Given the description of an element on the screen output the (x, y) to click on. 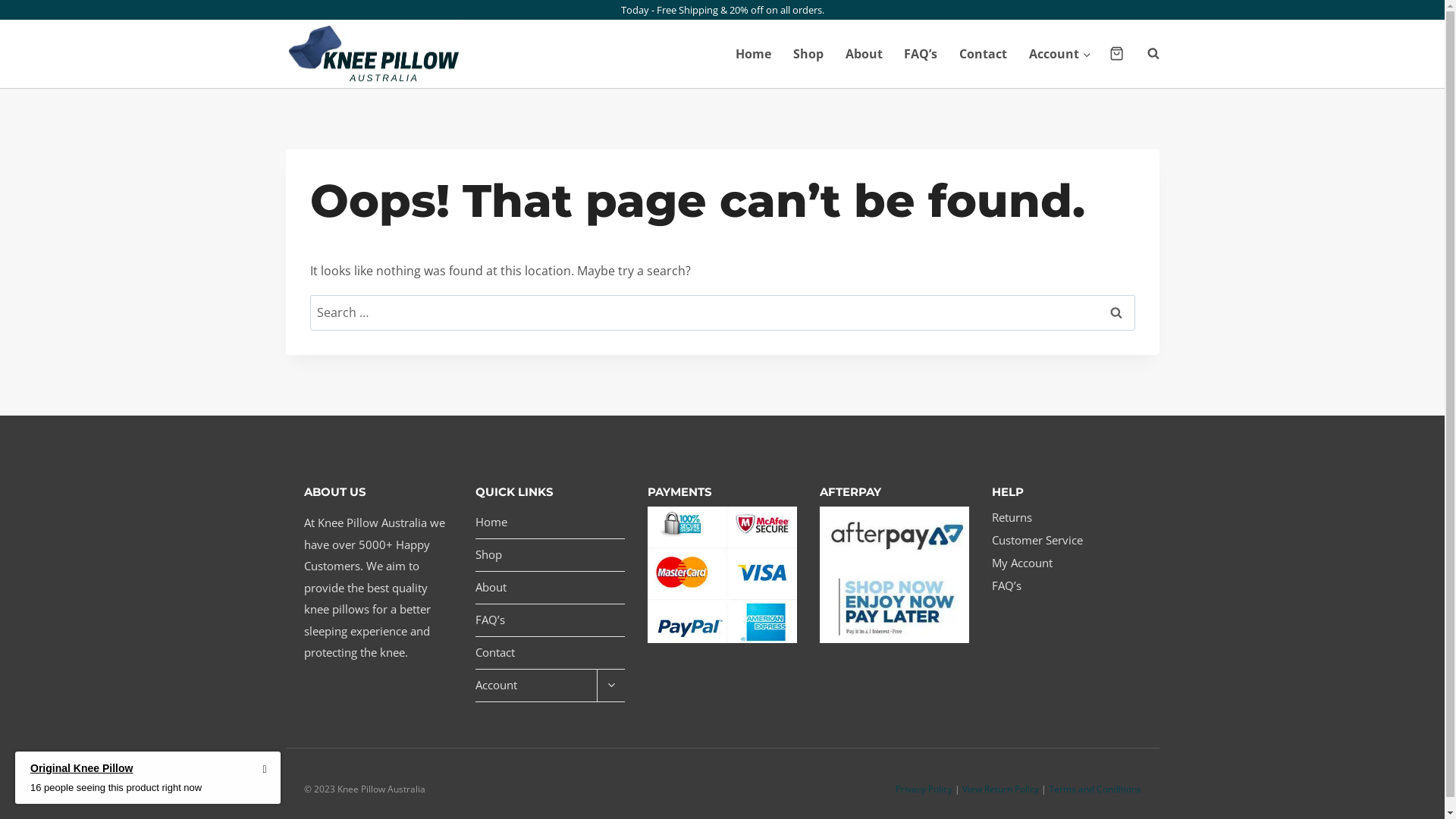
Account Element type: text (1060, 53)
Home Element type: text (753, 53)
Customer Service Element type: text (1066, 540)
Shop Element type: text (549, 555)
About Element type: text (549, 587)
Privacy Policy Element type: text (922, 788)
Terms and Conditions Element type: text (1094, 788)
Home Element type: text (549, 522)
My Account Element type: text (1066, 563)
Original Knee Pillow Element type: text (115, 773)
View Return Policy Element type: text (999, 788)
Contact Element type: text (549, 653)
Expand child menu Element type: text (610, 685)
Returns Element type: text (1066, 517)
About Element type: text (863, 53)
Contact Element type: text (983, 53)
Account Element type: text (535, 685)
Shop Element type: text (807, 53)
Search Element type: text (1115, 312)
